Given the description of an element on the screen output the (x, y) to click on. 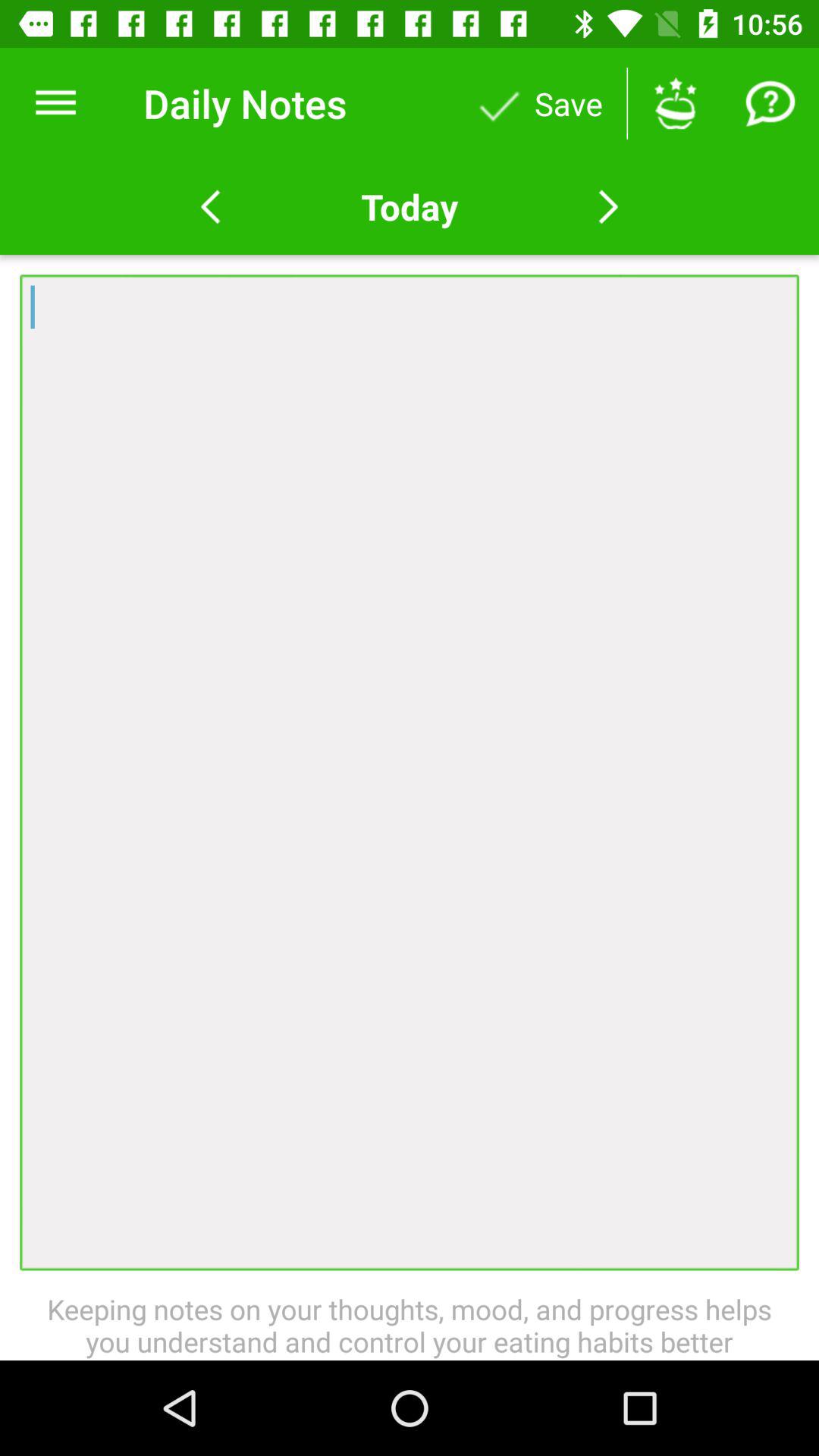
type thoughts here (409, 772)
